Given the description of an element on the screen output the (x, y) to click on. 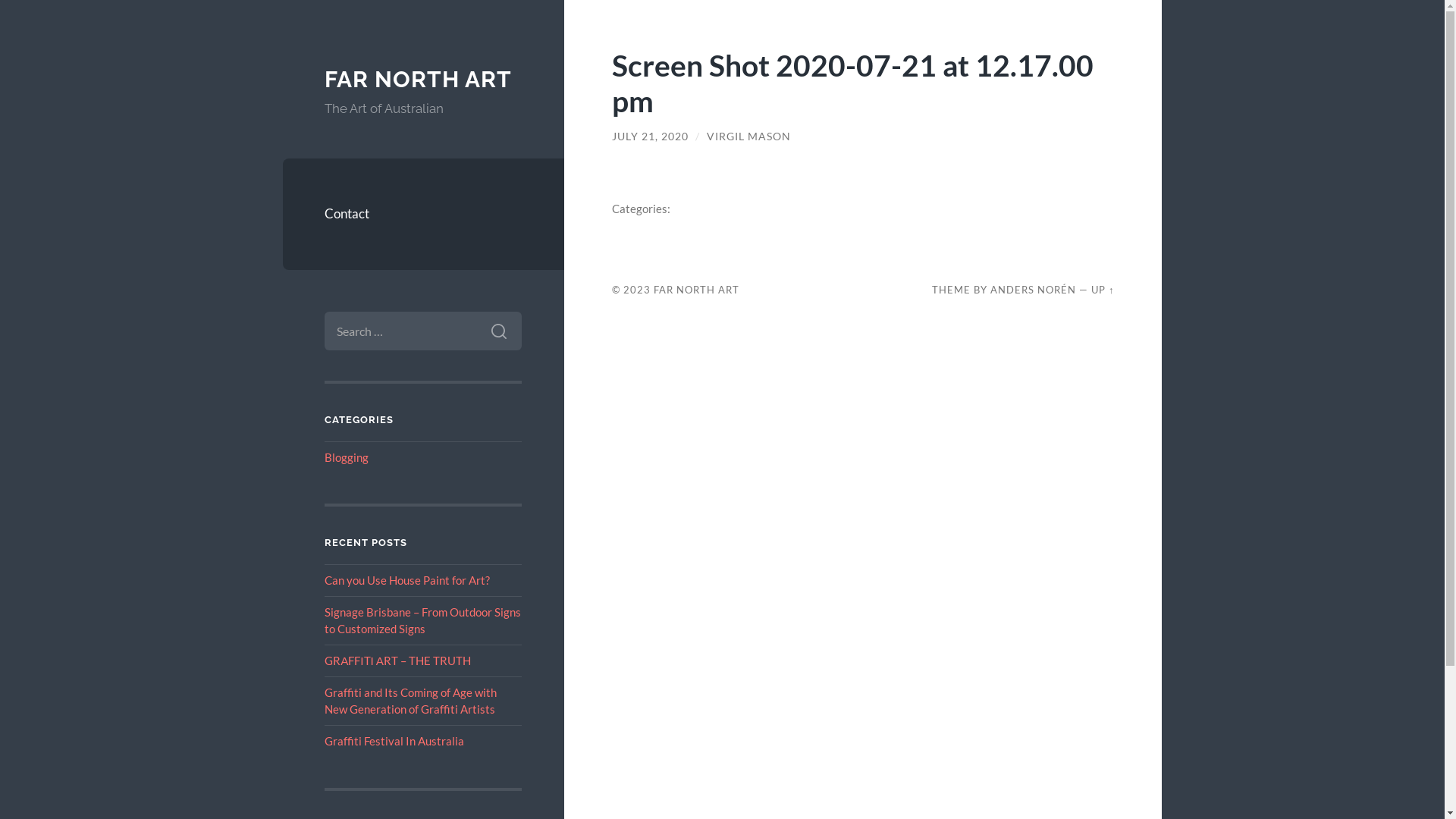
FAR NORTH ART Element type: text (696, 289)
VIRGIL MASON Element type: text (748, 136)
Can you Use House Paint for Art? Element type: text (406, 579)
FAR NORTH ART Element type: text (417, 78)
Graffiti Festival In Australia Element type: text (394, 740)
Blogging Element type: text (346, 457)
JULY 21, 2020 Element type: text (649, 136)
Search Element type: text (498, 330)
Contact Element type: text (422, 213)
